Given the description of an element on the screen output the (x, y) to click on. 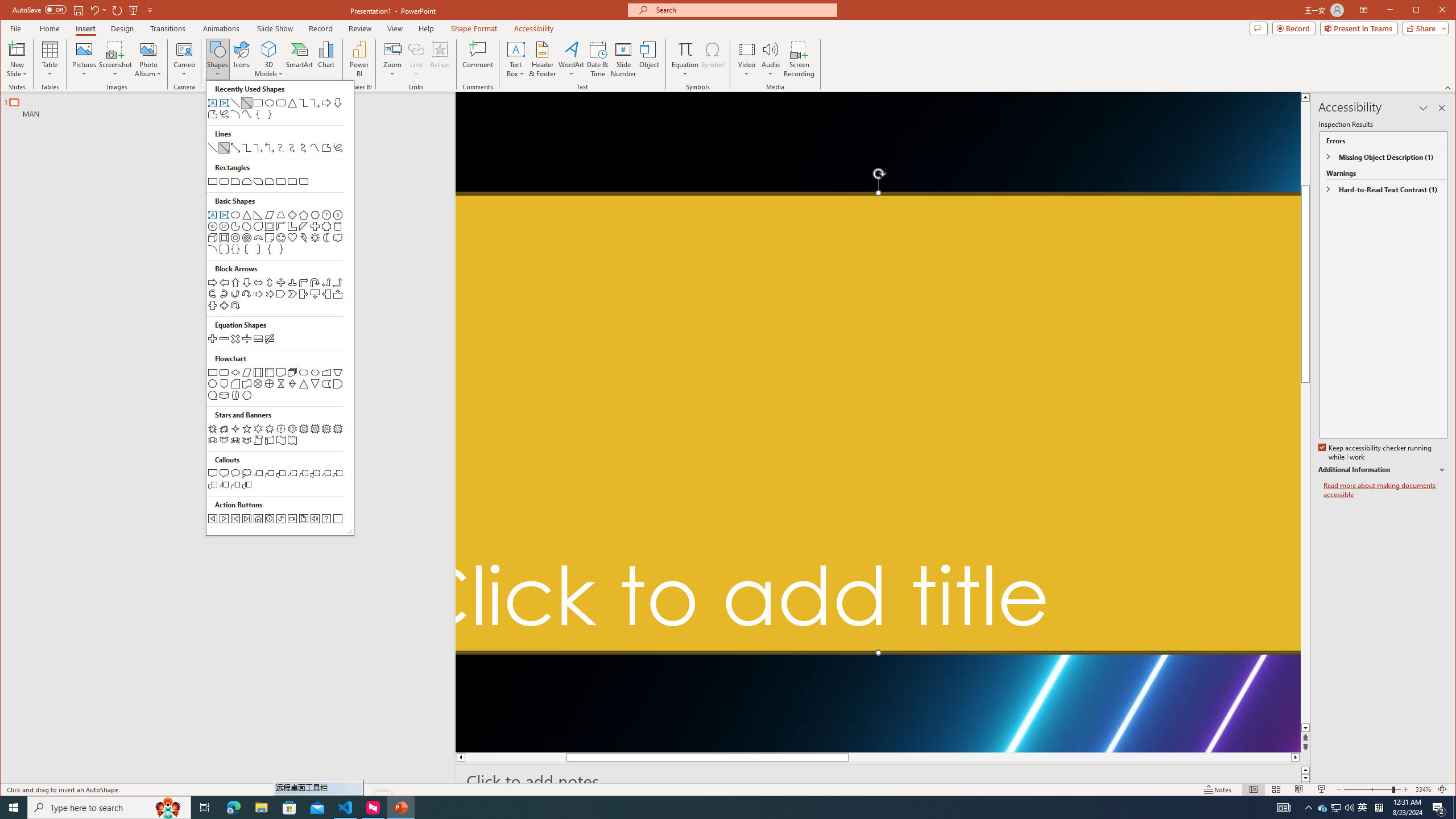
Shapes (217, 59)
Q2790: 100% (1349, 807)
Equation (685, 48)
Date & Time... (597, 59)
Microsoft Edge (233, 807)
Shapes (279, 307)
PowerPoint - 1 running window (400, 807)
Additional Information (1382, 469)
Action (440, 59)
Comment (478, 59)
